Given the description of an element on the screen output the (x, y) to click on. 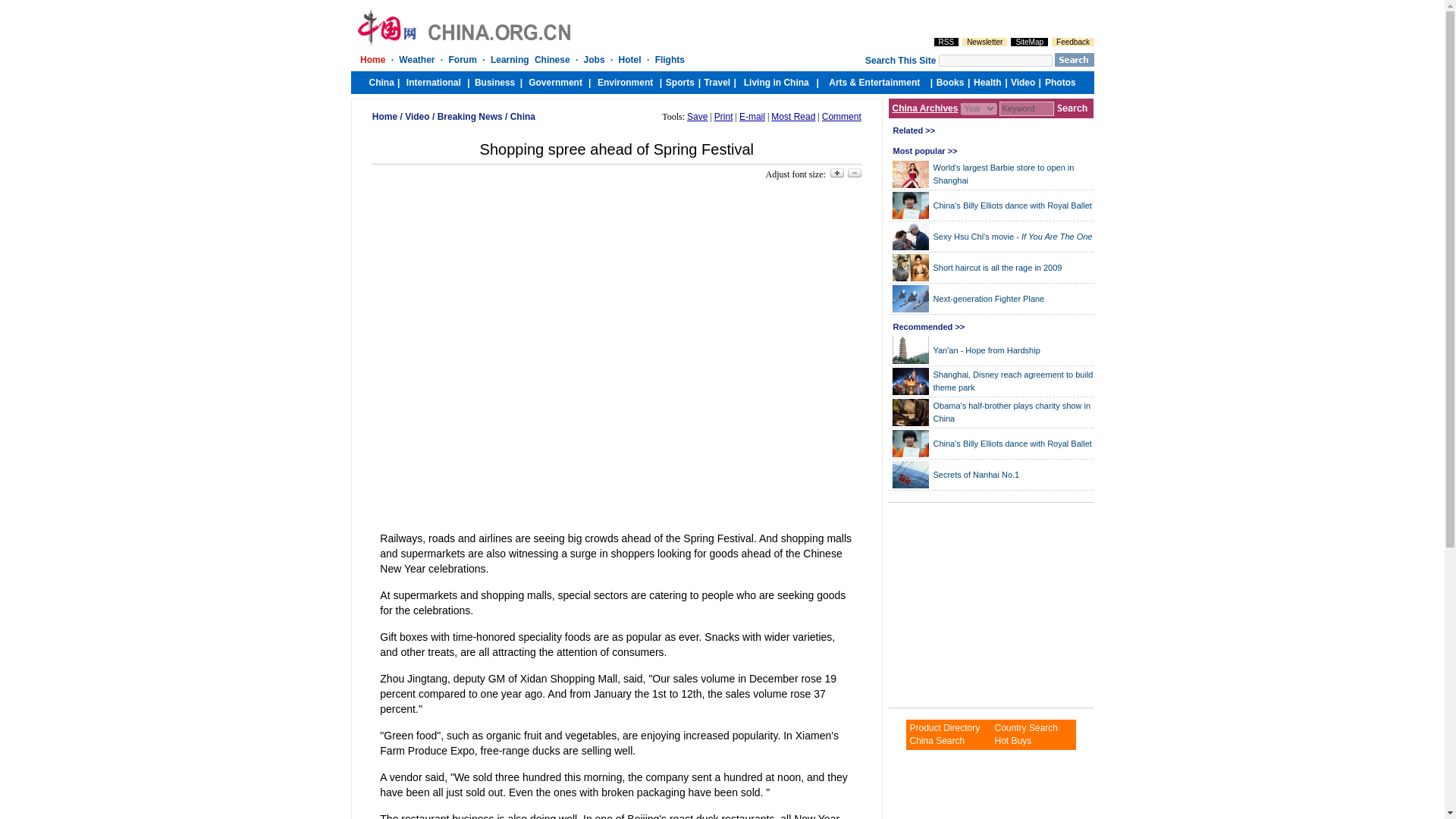
Most Read (793, 116)
Comment (841, 116)
China Suppliers (1025, 727)
Alibaba Directory (943, 727)
Short haircut is all the rage in 2009 (997, 266)
Home (384, 116)
Alibaba China (935, 740)
Sexy Hsu Chi's movie - If You Are The One (1012, 235)
E-mail (752, 116)
Print (723, 116)
World's largest Barbie store to open in Shanghai (1003, 173)
China (523, 116)
Video (416, 116)
Keyword (1026, 108)
Hot Products (1012, 740)
